Given the description of an element on the screen output the (x, y) to click on. 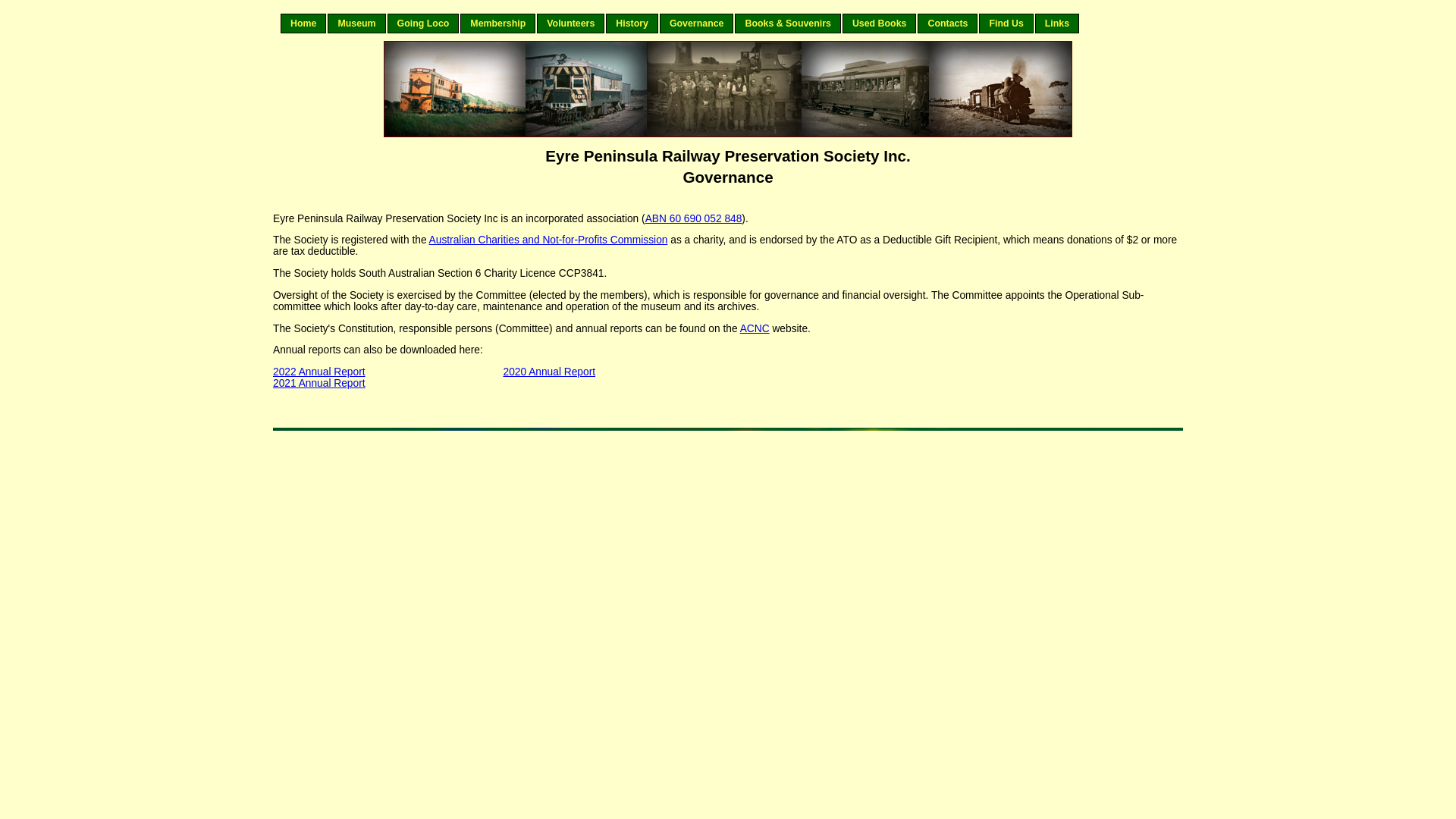
Australian Charities and Not-for-Profits Commission Element type: text (548, 239)
Links Element type: text (1056, 23)
Books & Souvenirs Element type: text (787, 23)
ABN 60 690 052 848 Element type: text (693, 217)
Volunteers Element type: text (570, 23)
ACNC Element type: text (754, 328)
Find Us Element type: text (1005, 23)
Going Loco Element type: text (423, 23)
2020 Annual Report Element type: text (549, 371)
2021 Annual Report Element type: text (319, 383)
History Element type: text (631, 23)
2022 Annual Report Element type: text (319, 371)
Used Books Element type: text (879, 23)
Museum Element type: text (356, 23)
Contacts Element type: text (947, 23)
Membership Element type: text (497, 23)
Governance Element type: text (696, 23)
Home Element type: text (303, 23)
